Given the description of an element on the screen output the (x, y) to click on. 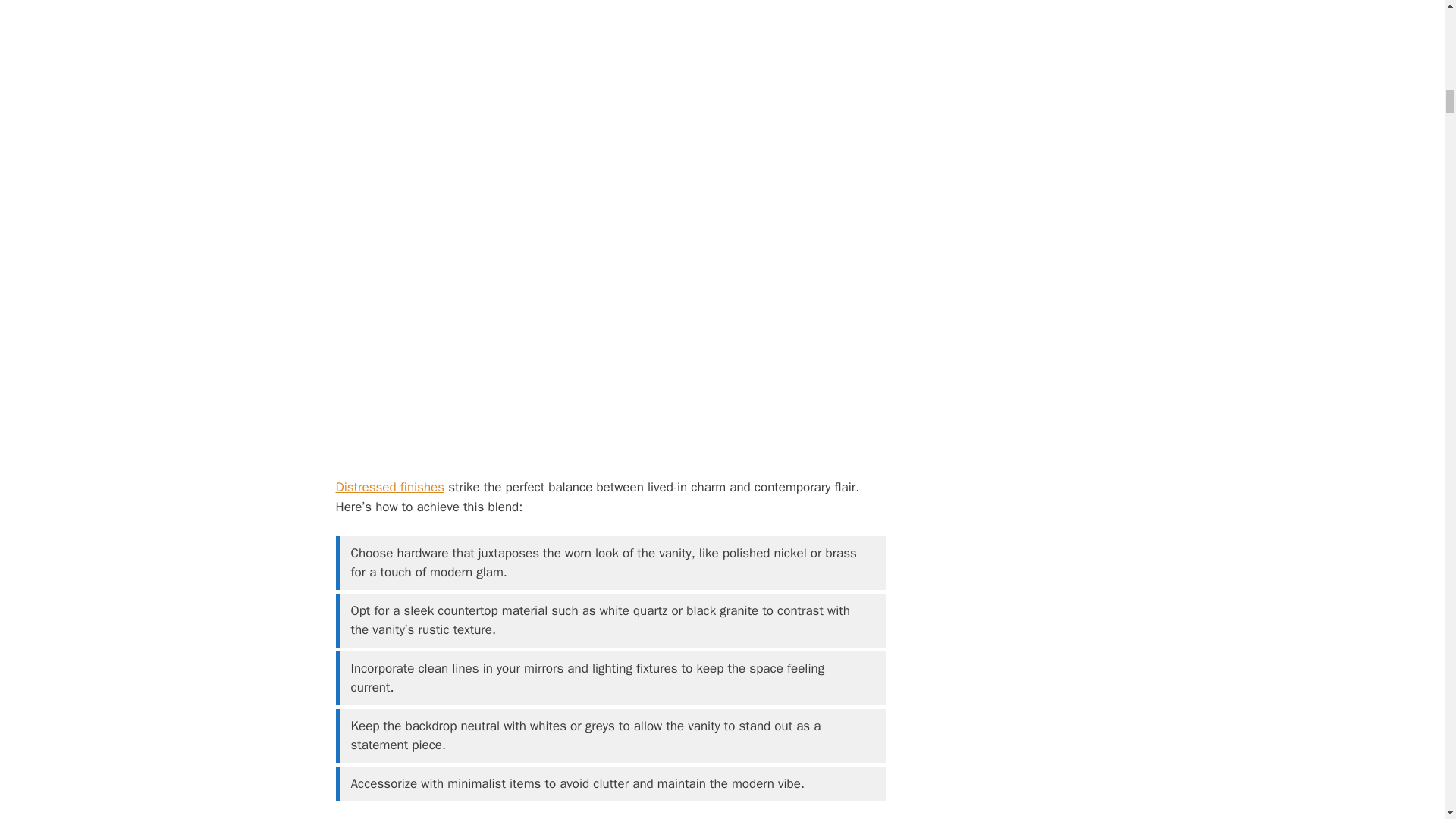
Distressed finishes (389, 487)
